Given the description of an element on the screen output the (x, y) to click on. 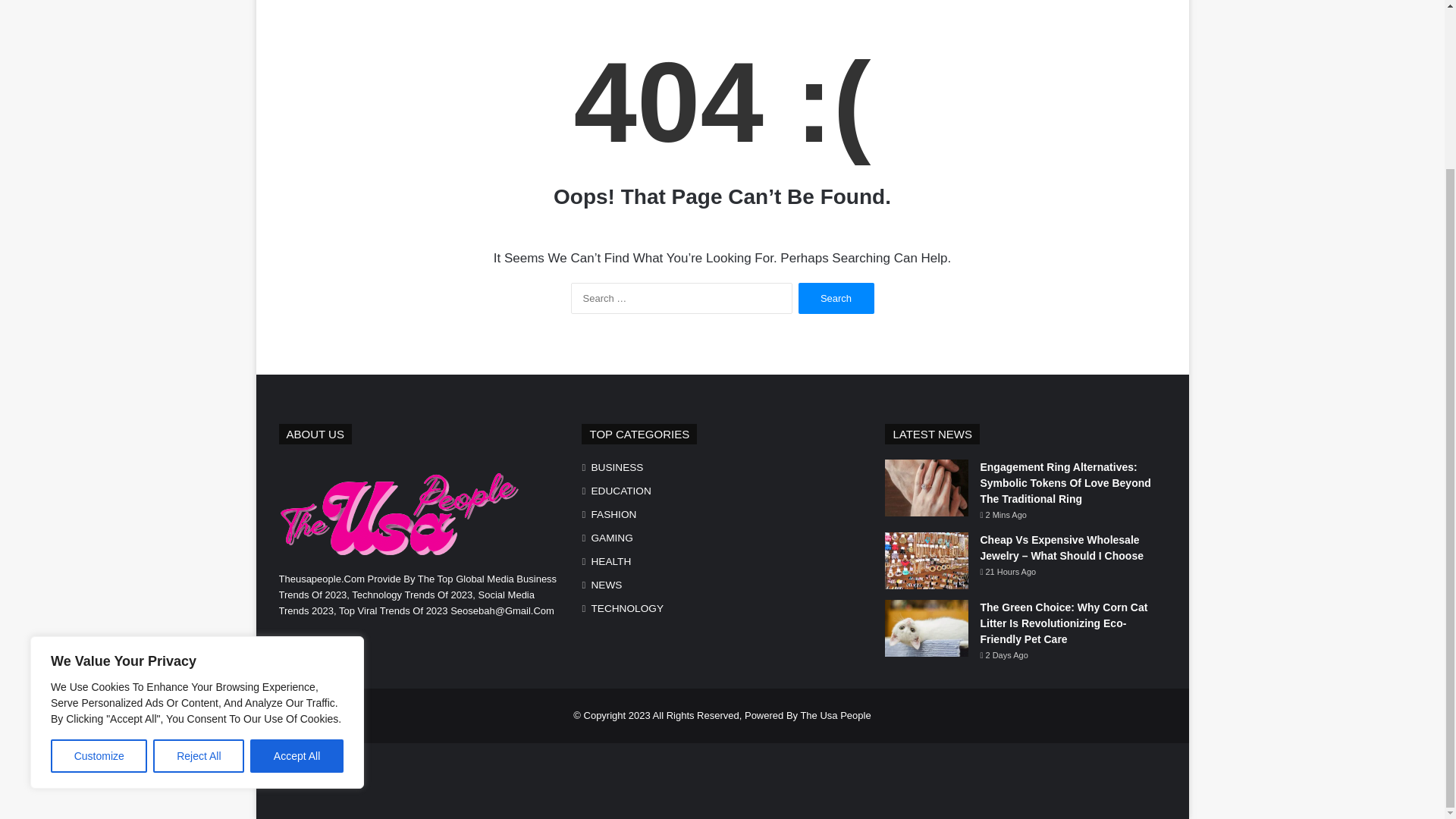
Accept All (296, 553)
Reject All (198, 553)
Search (835, 297)
EDUCATION (620, 490)
Customize (98, 553)
NEWS (606, 584)
GAMING (611, 537)
Search (835, 297)
TECHNOLOGY (627, 608)
FASHION (613, 514)
BUSINESS (617, 467)
HEALTH (610, 561)
Search (835, 297)
